Given the description of an element on the screen output the (x, y) to click on. 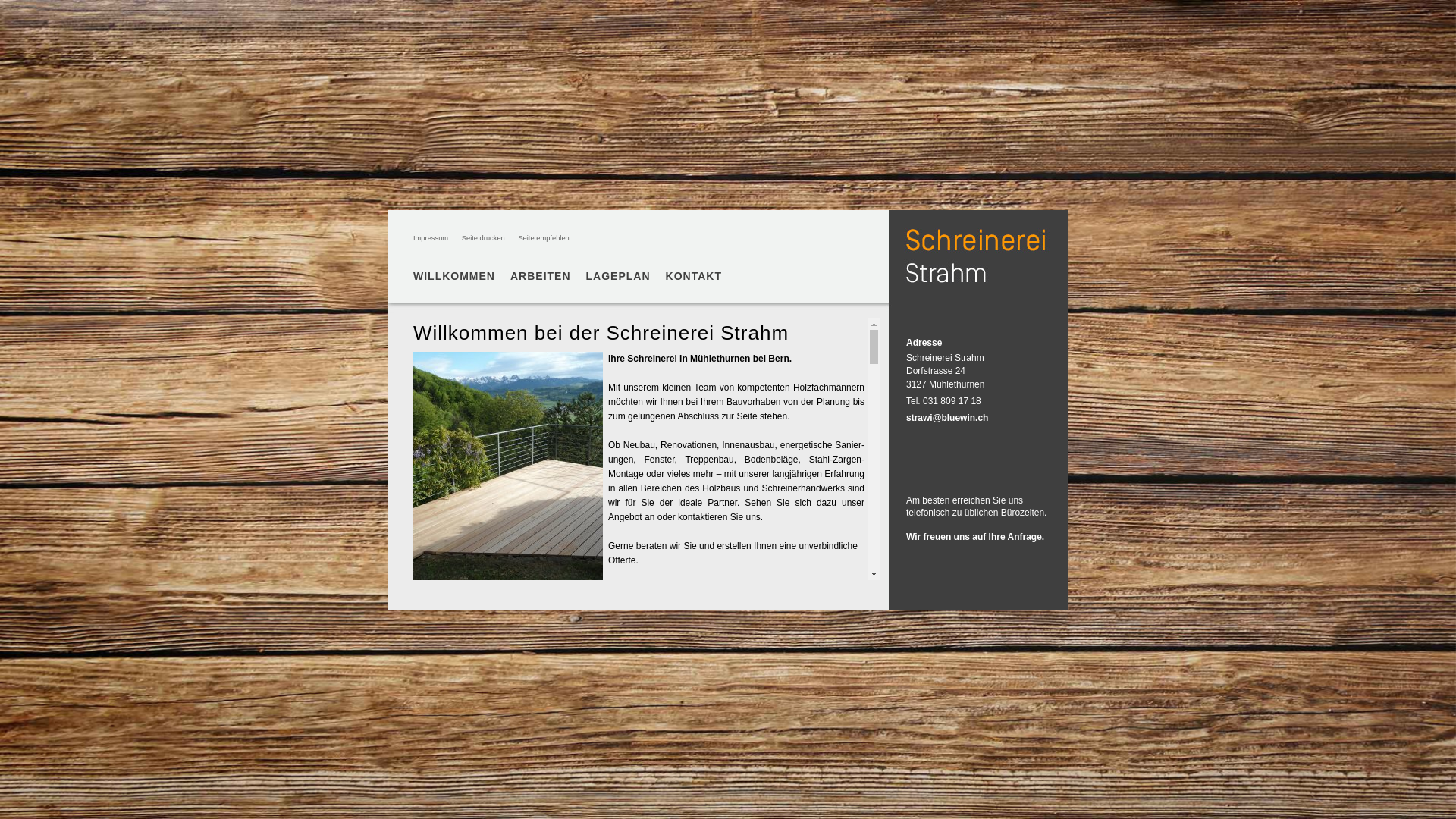
Seite empfehlen Element type: text (542, 237)
LAGEPLAN Element type: text (618, 275)
strawi@bluewin.ch Element type: text (947, 417)
Impressum Element type: text (430, 237)
ARBEITEN Element type: text (540, 275)
Seite drucken Element type: text (483, 237)
KONTAKT Element type: text (693, 275)
WILLKOMMEN Element type: text (454, 275)
